Given the description of an element on the screen output the (x, y) to click on. 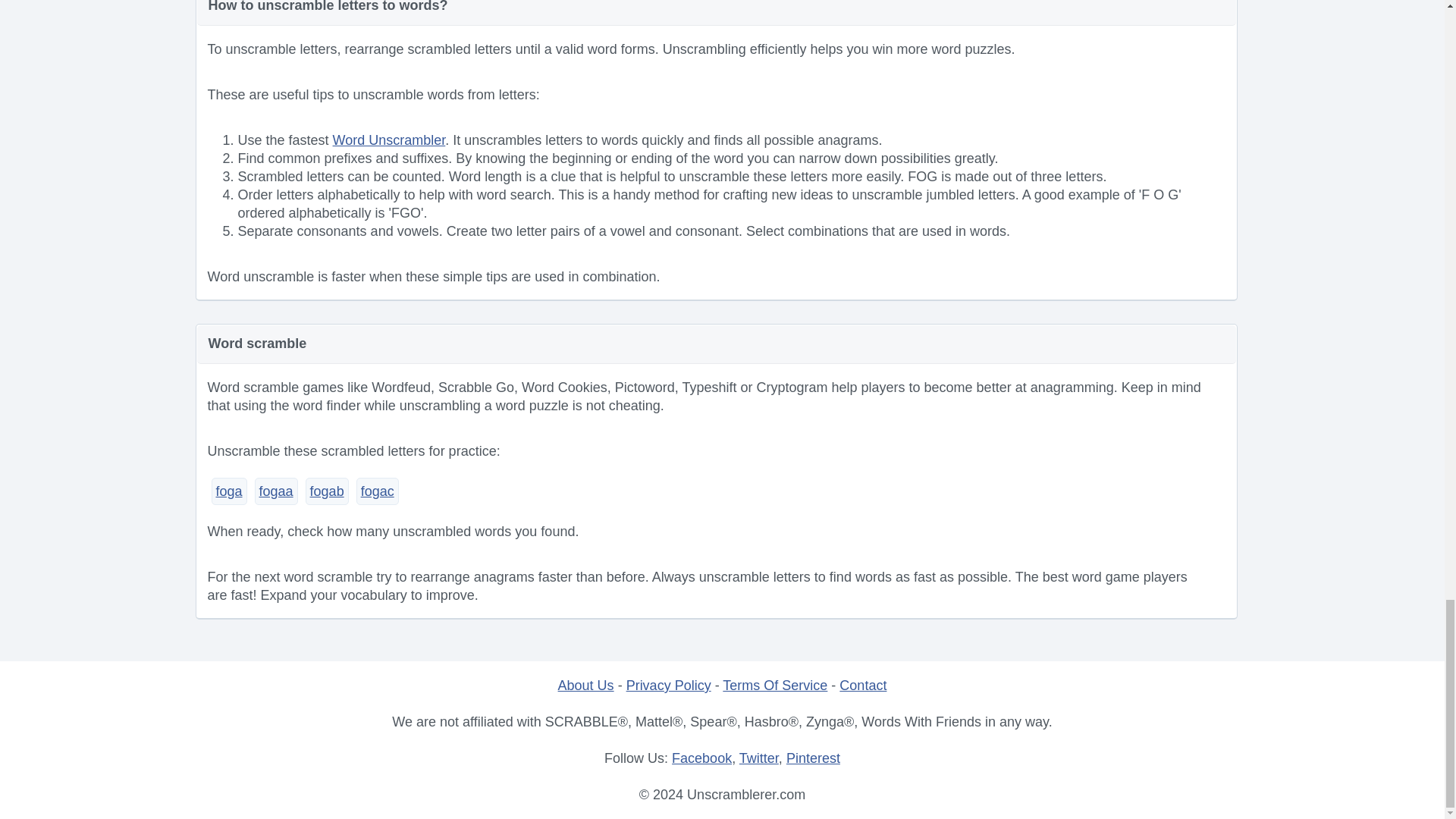
About Us (585, 685)
foga (228, 491)
Facebook (701, 758)
fogab (327, 491)
Word Unscrambler (389, 140)
Twitter (758, 758)
fogaa (276, 491)
Pinterest (813, 758)
fogac (377, 491)
Privacy Policy (668, 685)
Terms Of Service (774, 685)
Contact (863, 685)
